Given the description of an element on the screen output the (x, y) to click on. 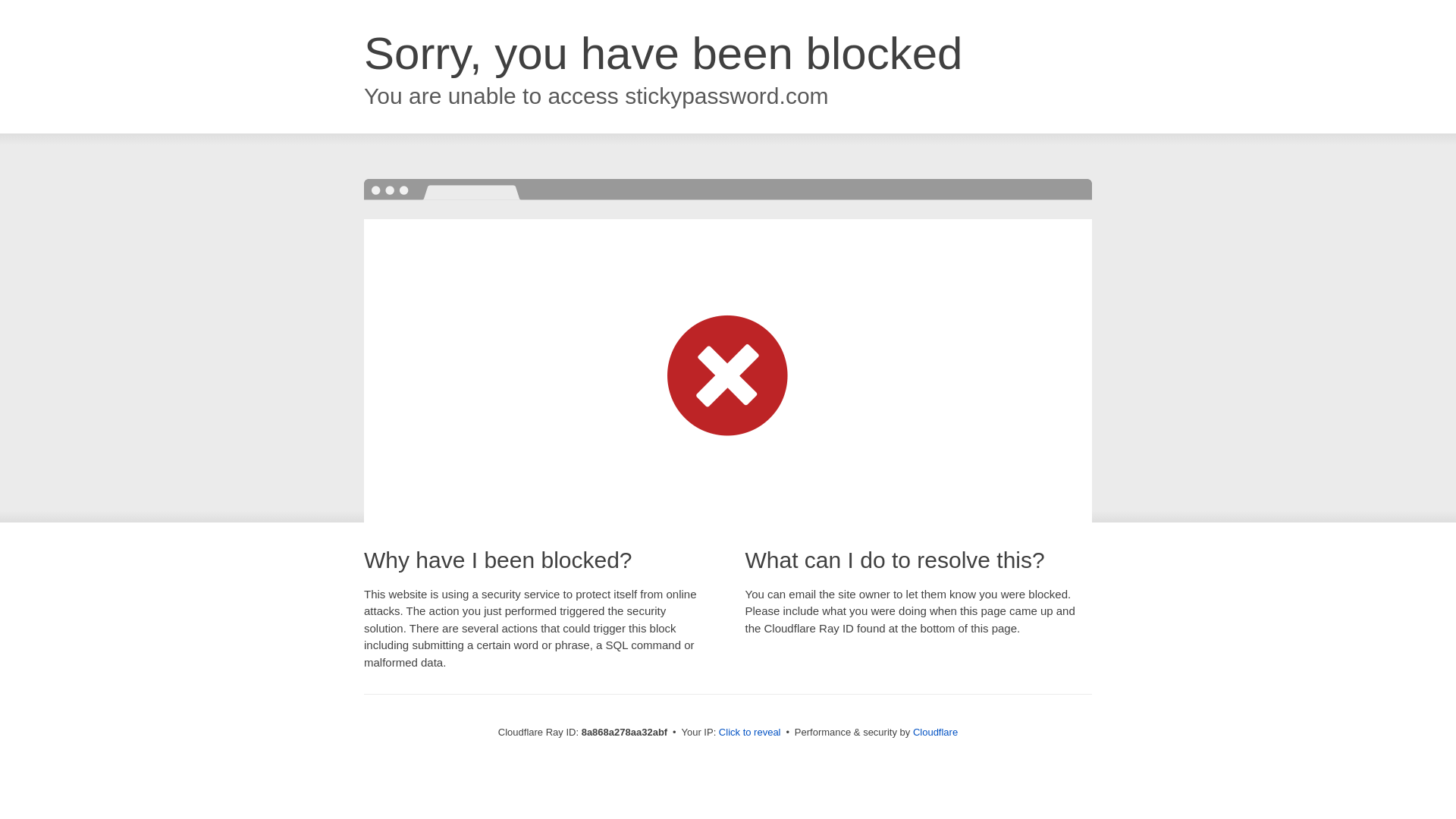
Click to reveal (749, 732)
Cloudflare (935, 731)
